Given the description of an element on the screen output the (x, y) to click on. 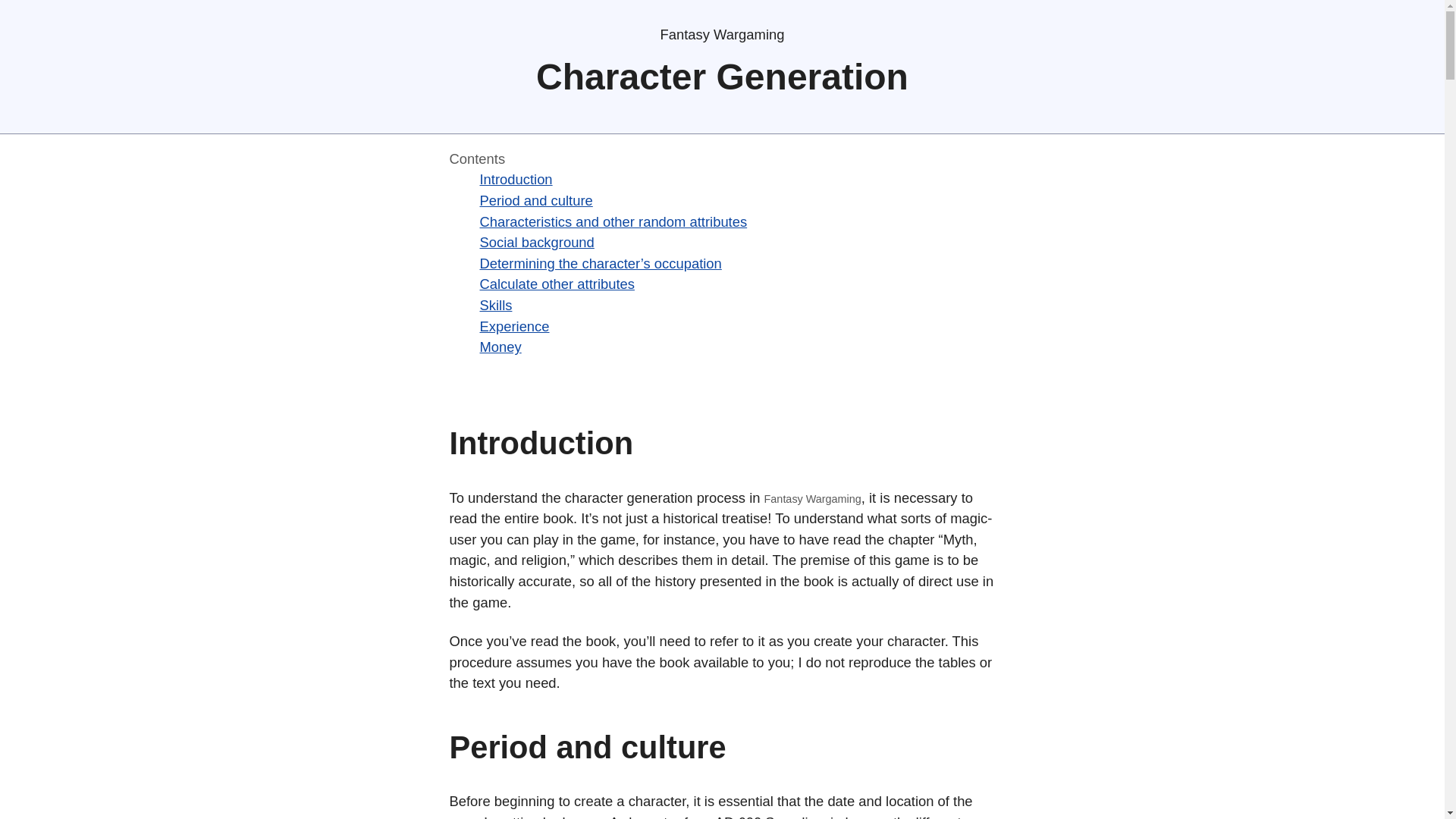
Period and culture (535, 200)
Characteristics and other random attributes (612, 221)
Social background (536, 242)
Introduction (515, 179)
Money (500, 346)
Skills (495, 304)
Experience (513, 326)
Calculate other attributes (556, 283)
